Given the description of an element on the screen output the (x, y) to click on. 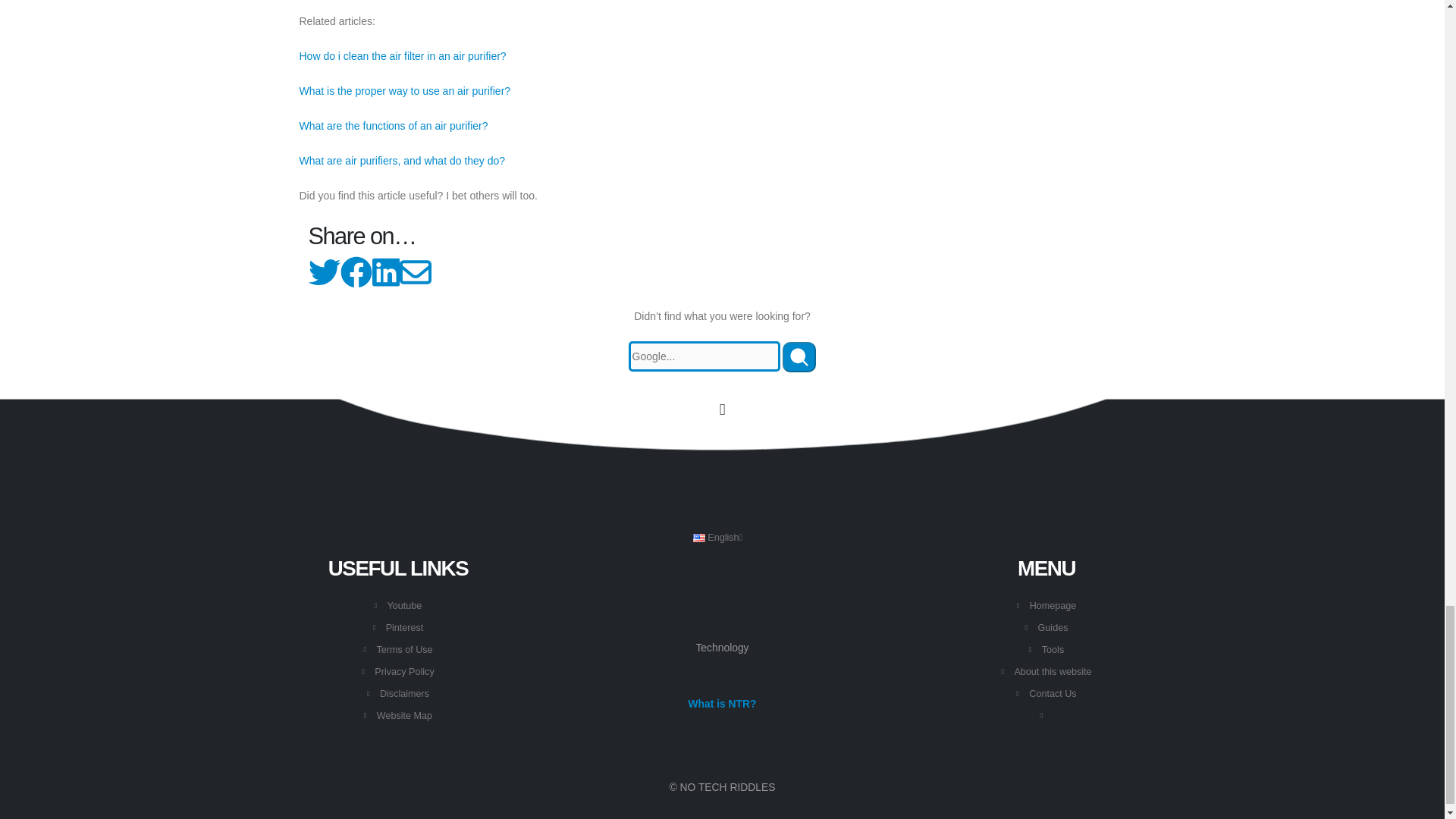
What are the functions of an air purifier? (392, 125)
What are air purifiers, and what do they do? (401, 160)
What is the proper way to use an air purifier? (404, 91)
How do i clean the air filter in an air purifier? (401, 55)
